Given the description of an element on the screen output the (x, y) to click on. 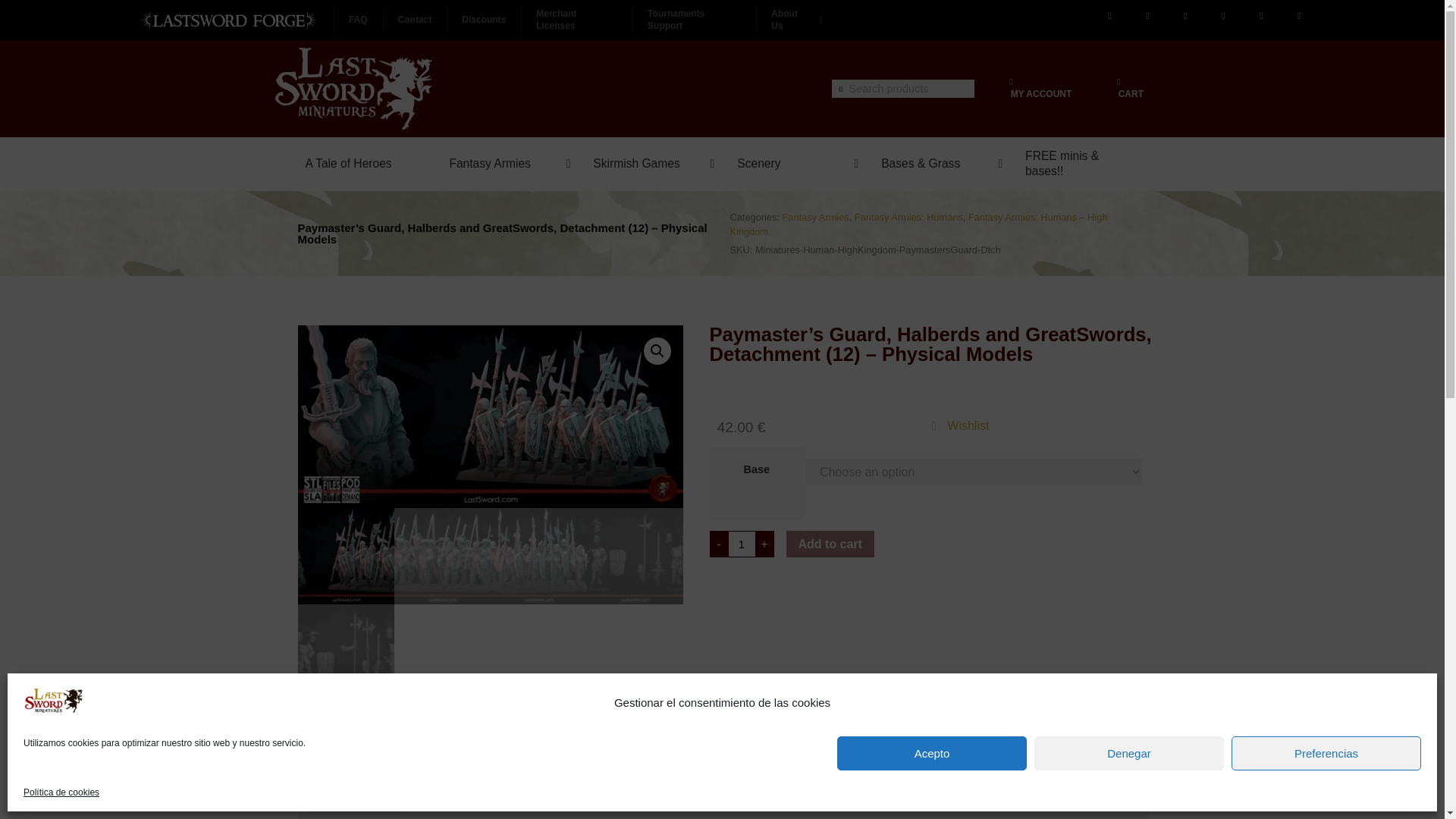
Tournaments Support (693, 19)
Discounts (483, 19)
Acepto (931, 753)
Merchant Licenses (576, 19)
About Us (792, 19)
Shop-Miniatures-Human-HighKingdom-PayMastersGuard-DST-Cover (489, 416)
Preferencias (1079, 88)
Contact (1326, 753)
FAQ (414, 19)
Cart (357, 19)
Qty (1119, 81)
My Account (741, 543)
Denegar (1010, 81)
